Given the description of an element on the screen output the (x, y) to click on. 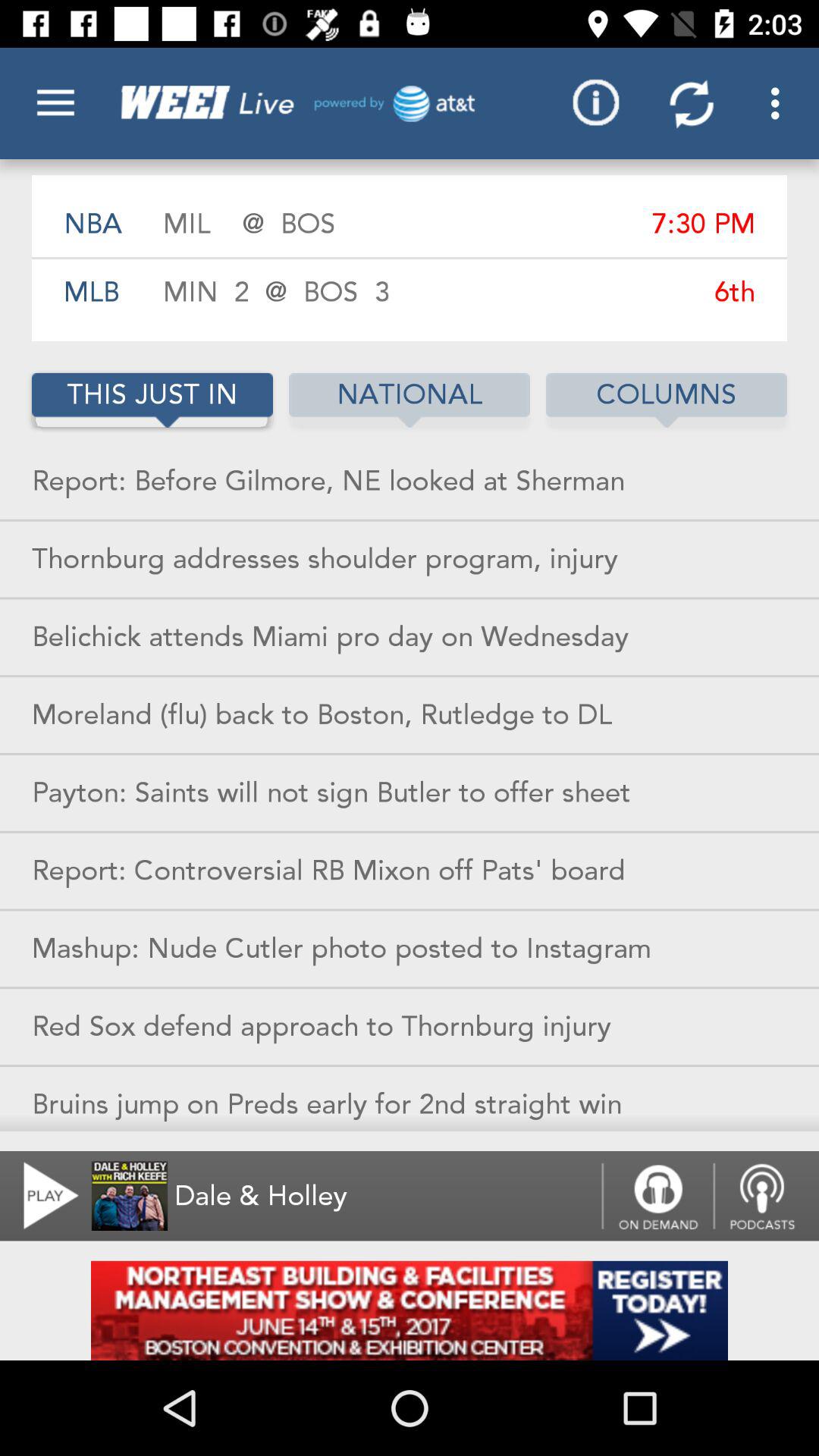
click on the image right next to play (129, 1196)
click on podcasts button which is at bottom of the page (766, 1196)
